Given the description of an element on the screen output the (x, y) to click on. 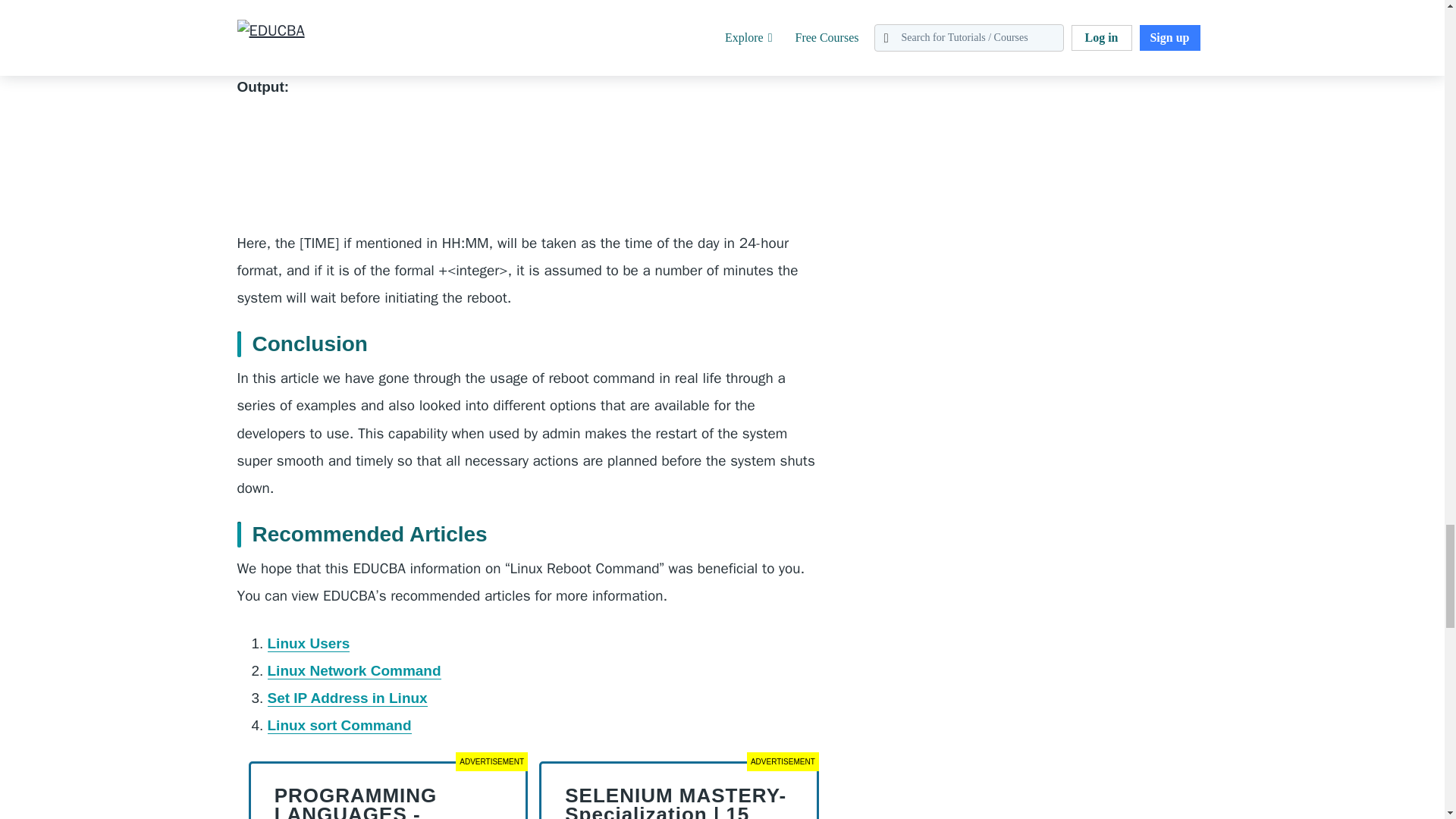
Linux sort Command (338, 725)
Set IP Address in Linux (346, 698)
Linux Users (307, 643)
Linux Network Command (353, 670)
